Given the description of an element on the screen output the (x, y) to click on. 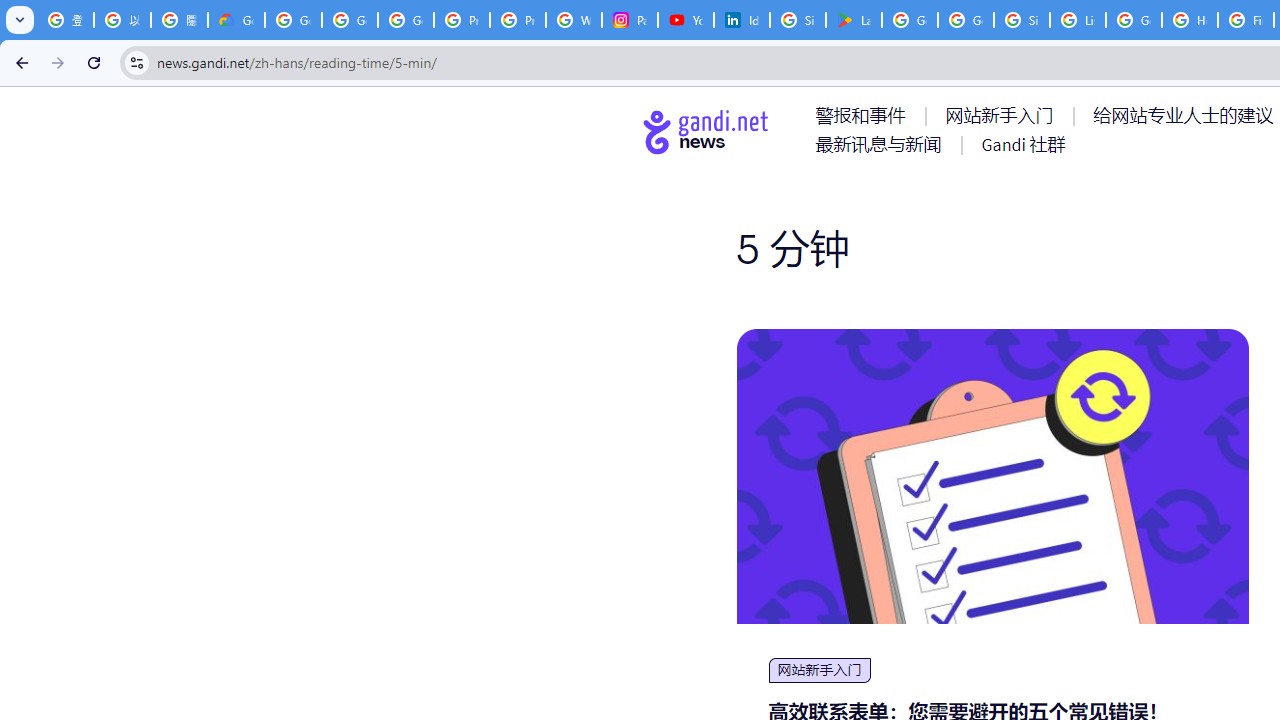
How do I create a new Google Account? - Google Account Help (1190, 20)
YouTube Culture & Trends - On The Rise: Handcam Videos (685, 20)
AutomationID: menu-item-77766 (882, 143)
Privacy Help Center - Policies Help (461, 20)
Go to home (706, 131)
AutomationID: menu-item-77767 (1022, 143)
